Given the description of an element on the screen output the (x, y) to click on. 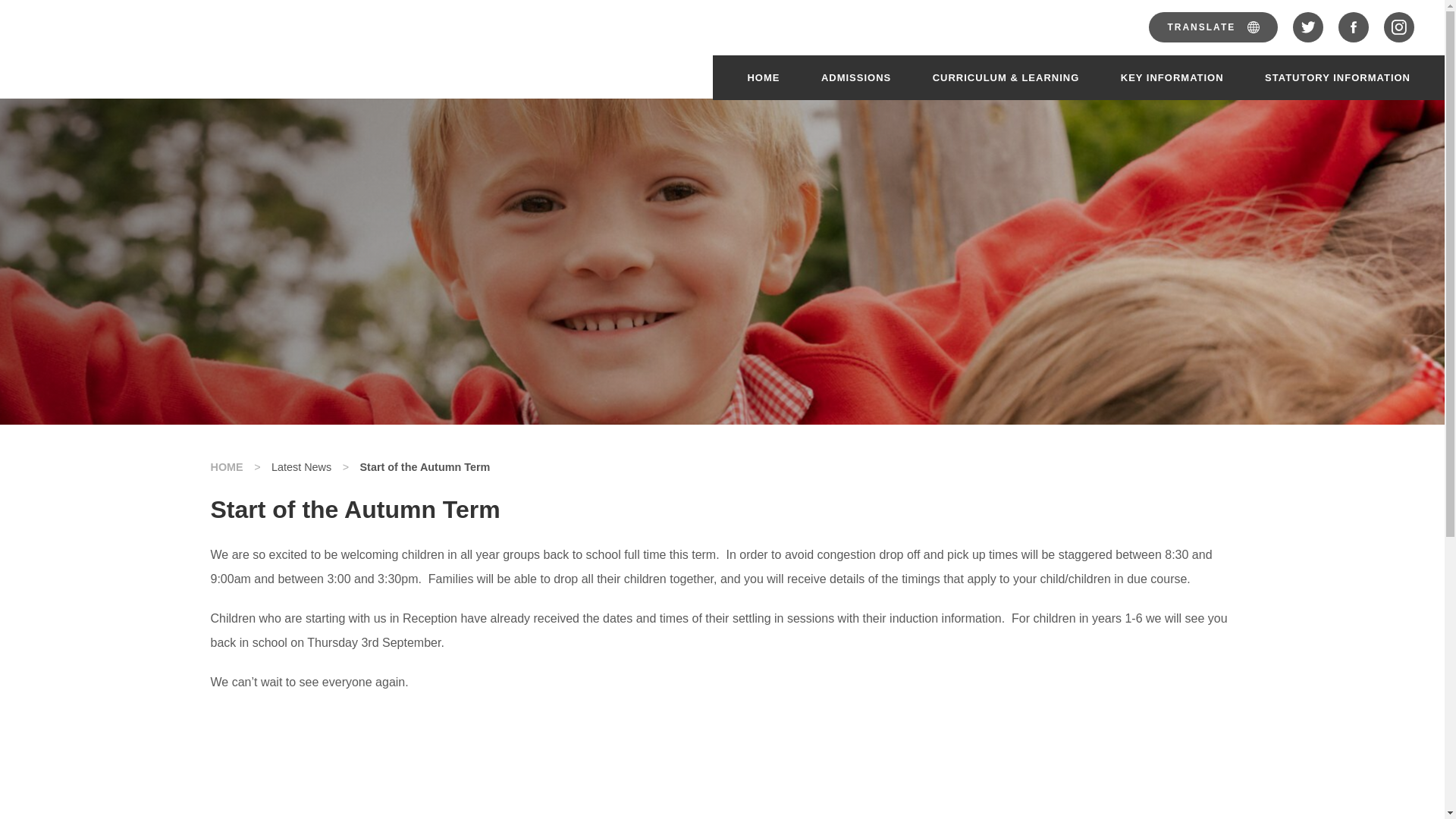
KEY INFORMATION (1172, 76)
ADMISSIONS (856, 76)
HOME (762, 76)
TRANSLATE (1213, 32)
STATUTORY INFORMATION (1337, 76)
